Given the description of an element on the screen output the (x, y) to click on. 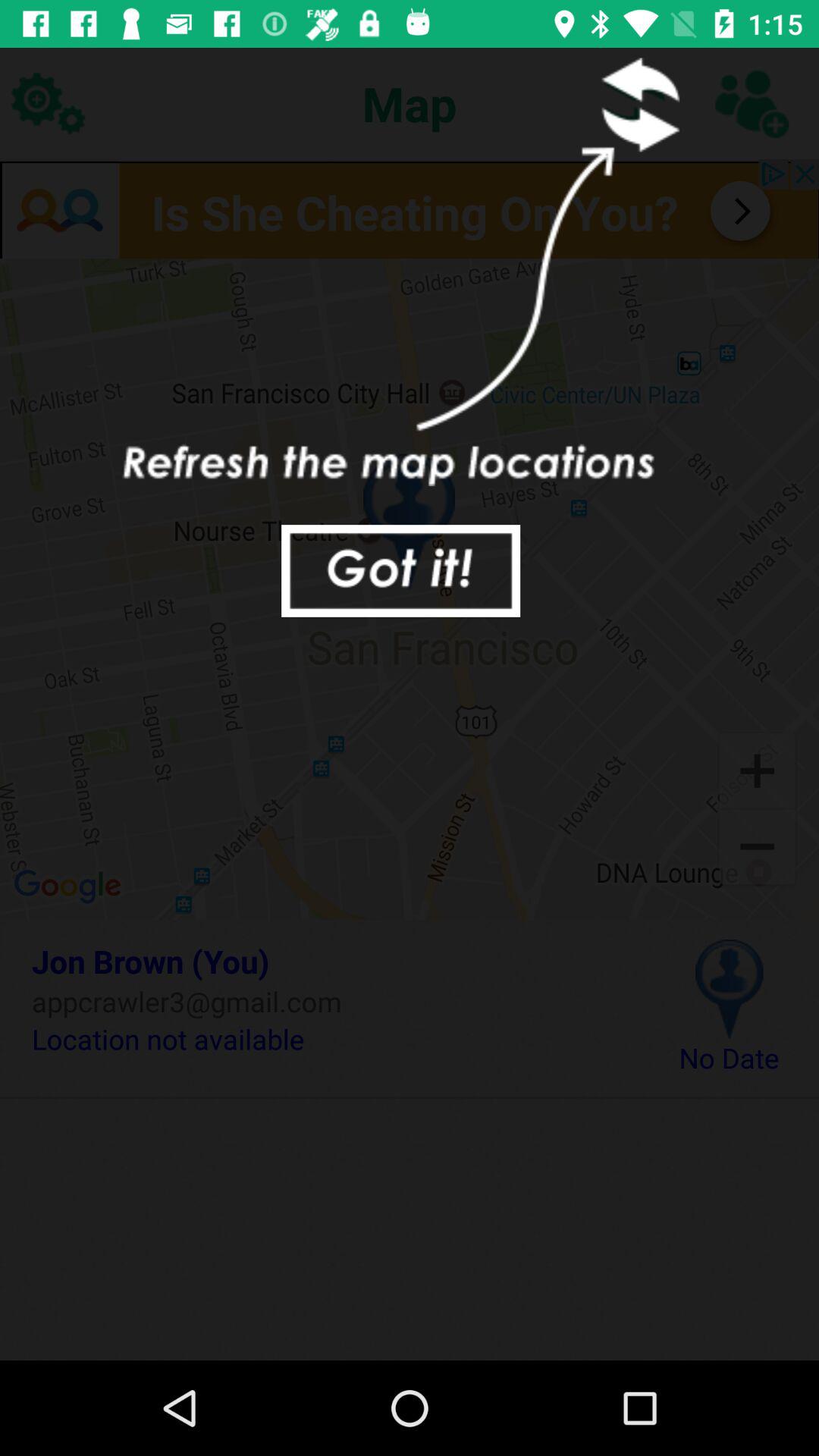
opens the settings page (47, 103)
